Given the description of an element on the screen output the (x, y) to click on. 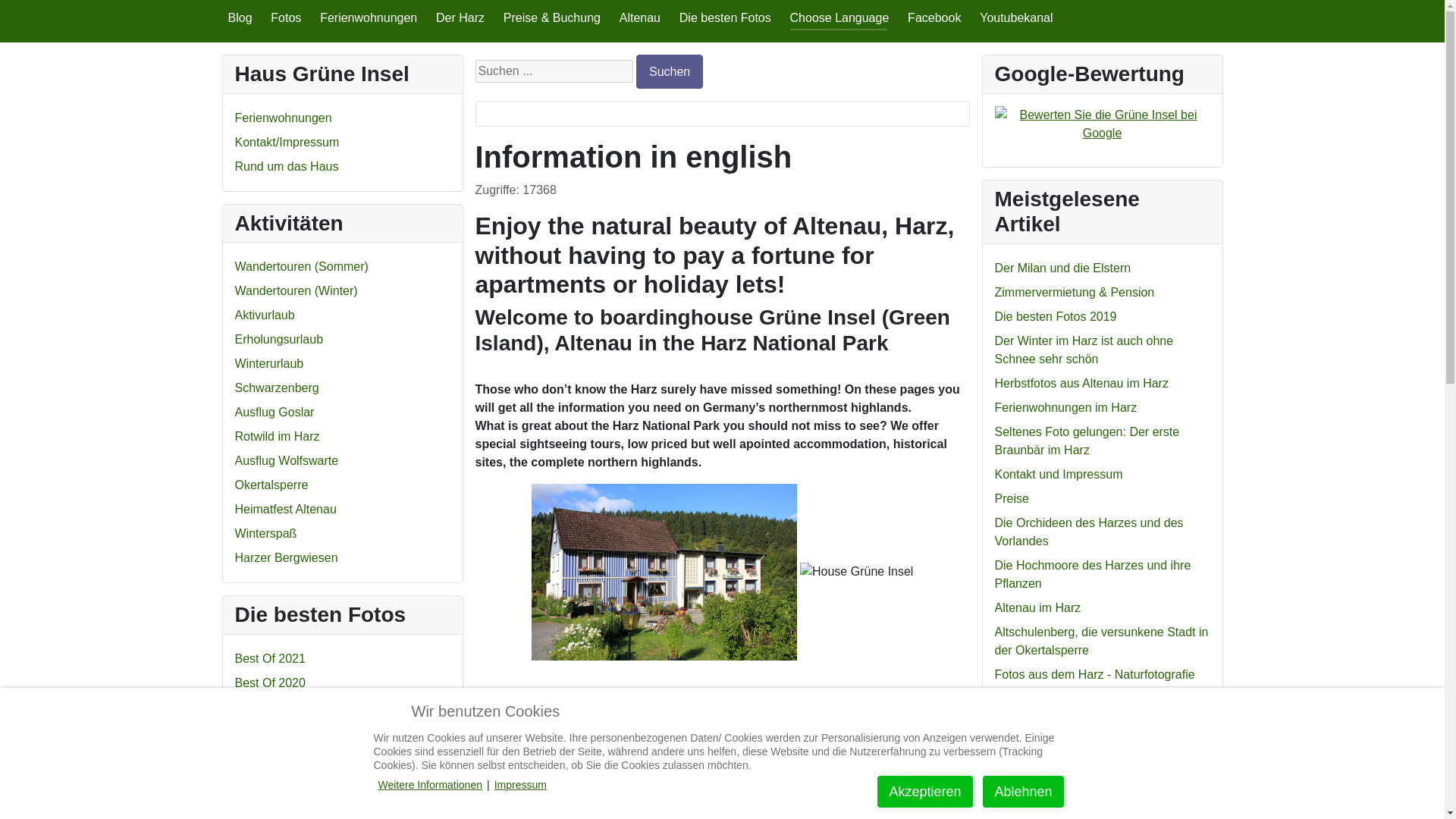
Erholungsurlaub (278, 338)
Best Of 2016 (269, 803)
Best Of 2018 (269, 755)
Altenau (640, 17)
Youtubekanal (1015, 17)
Winterurlaub (269, 363)
Aktivurlaub (264, 314)
Choose Language (839, 17)
Ausflug Wolfswarte (286, 460)
Harzer Bergwiesen (285, 557)
Rund um das Haus (286, 165)
Best Of 2015 (269, 779)
Ausflug Goslar (274, 411)
Heimatfest Altenau (285, 508)
Facebook (933, 17)
